Given the description of an element on the screen output the (x, y) to click on. 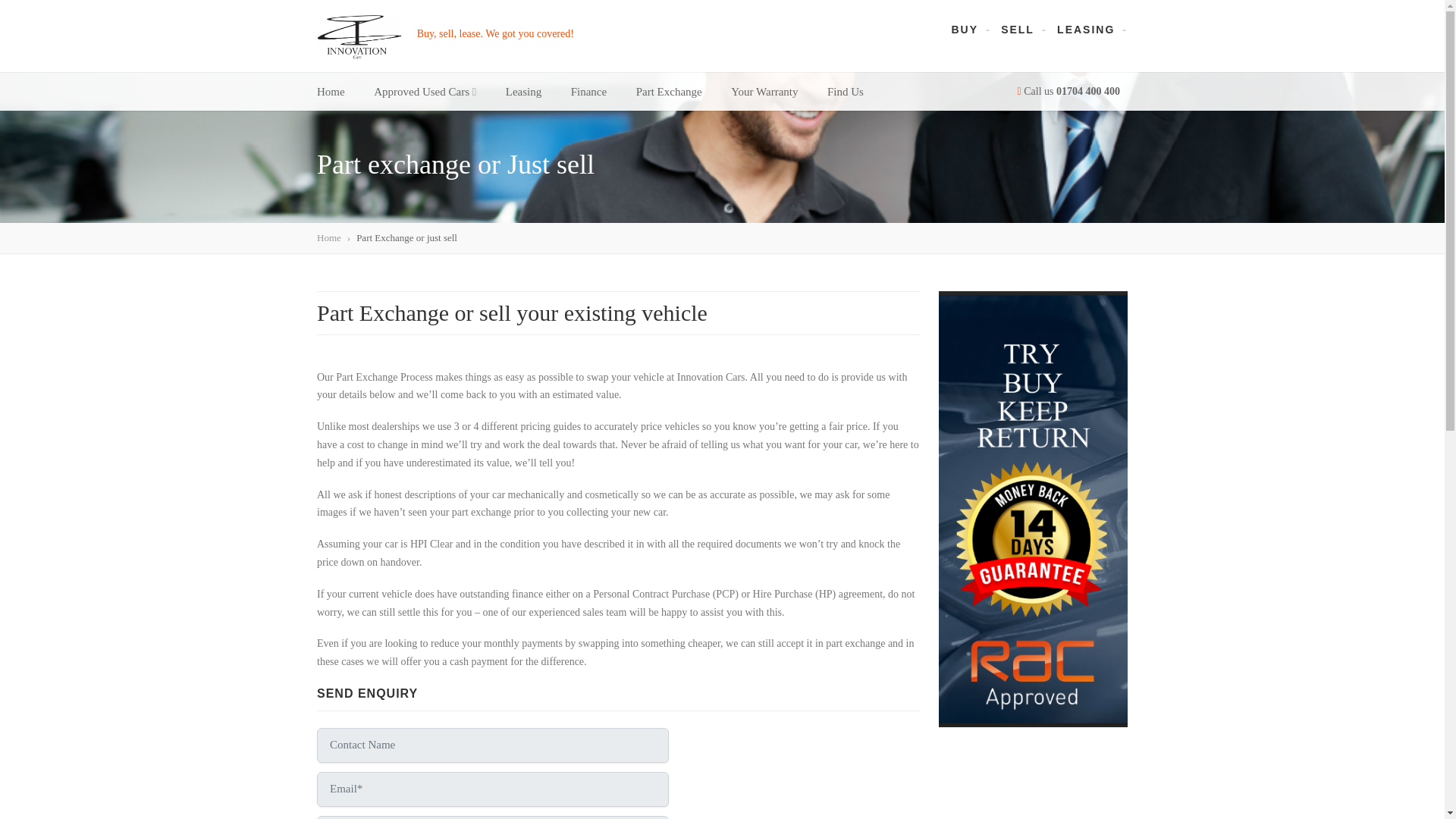
BUY (964, 29)
LEASING (1086, 29)
Your Warranty (763, 91)
Home (328, 237)
Part Exchange (668, 91)
Approved Used Cars (425, 91)
Finance (588, 91)
Find Us (845, 91)
SELL (1017, 29)
Leasing (523, 91)
